Given the description of an element on the screen output the (x, y) to click on. 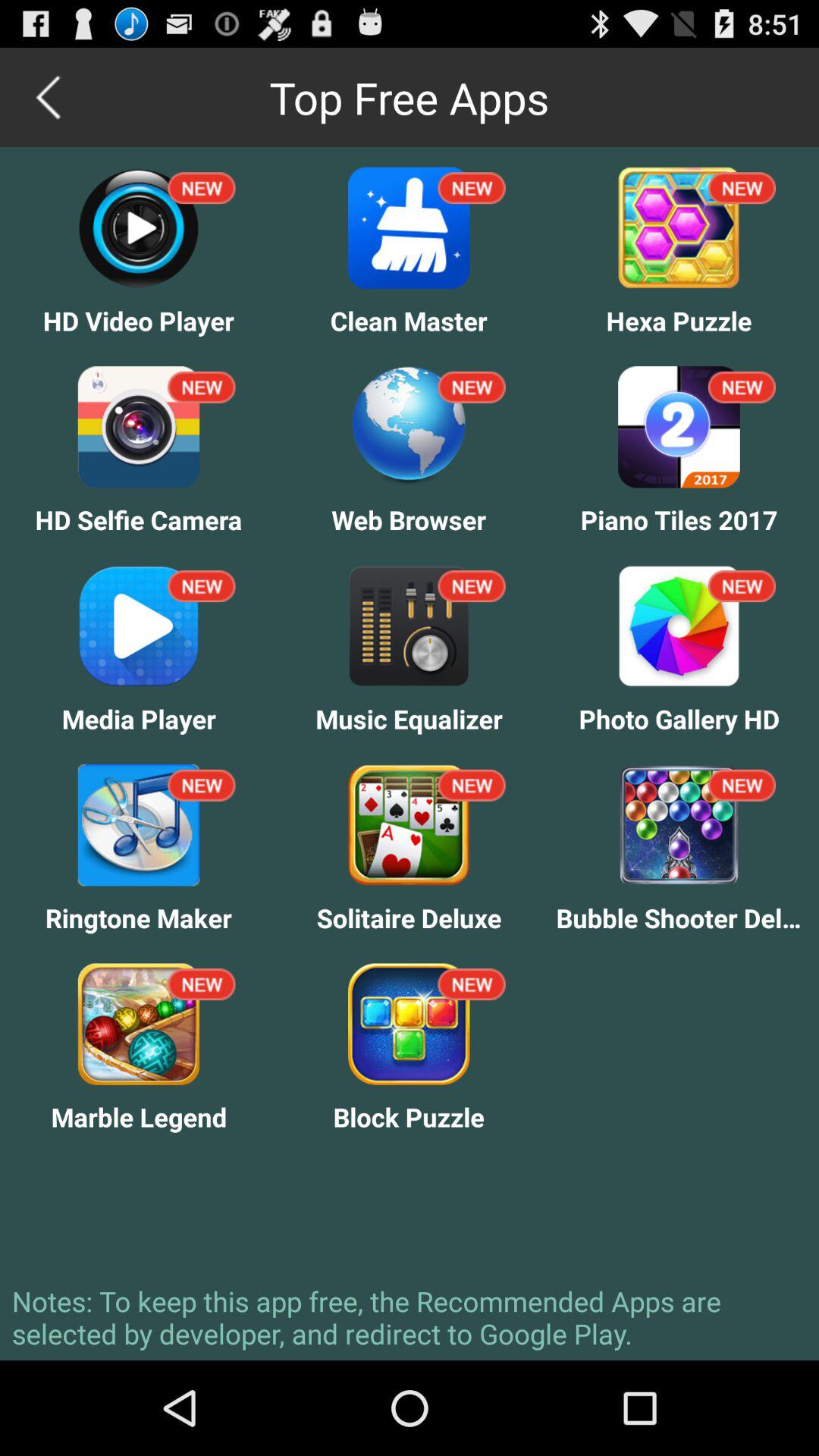
press icon next to the top free apps icon (49, 97)
